Given the description of an element on the screen output the (x, y) to click on. 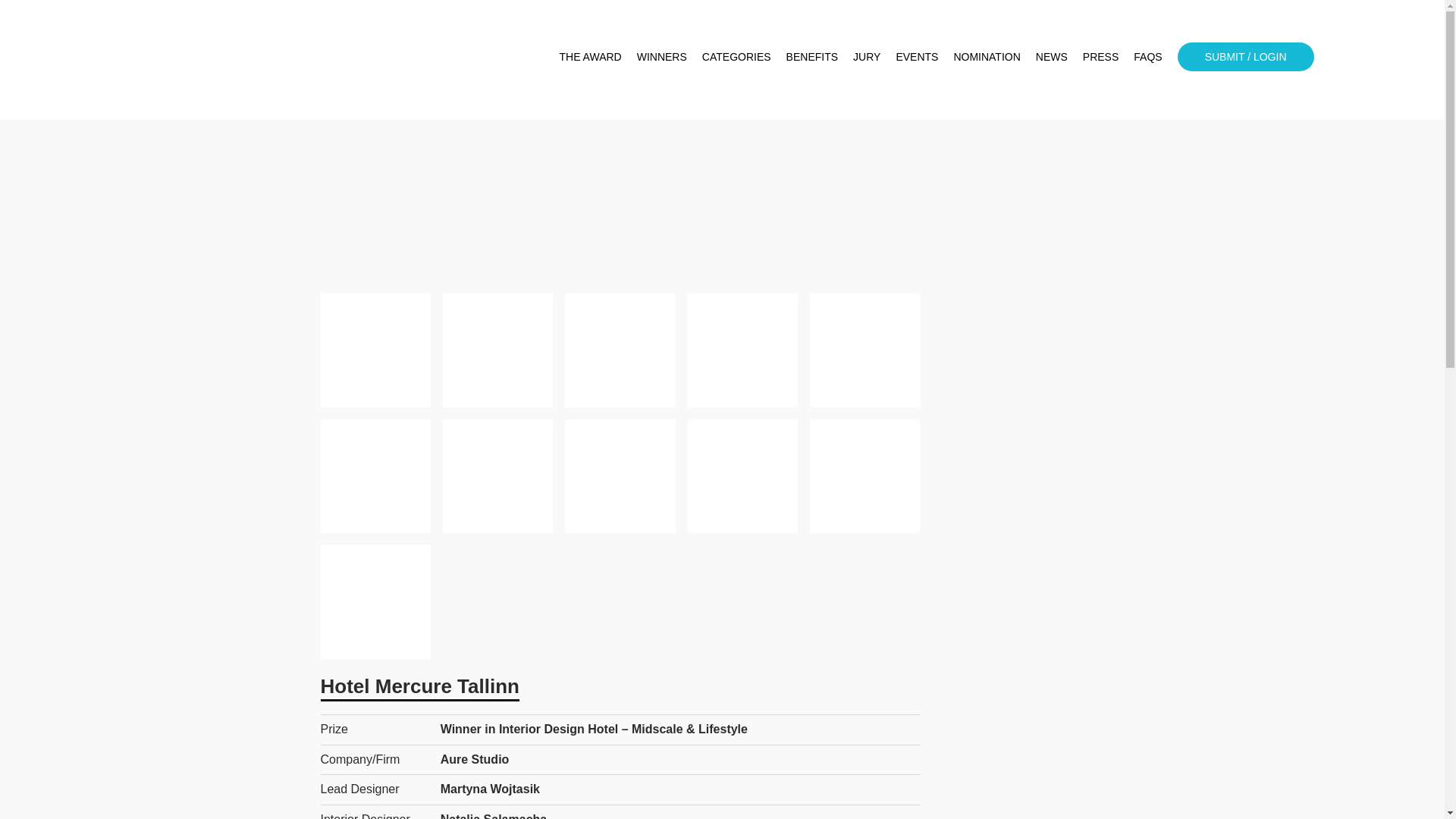
EVENTS (916, 56)
JURY (866, 56)
PRESS (1100, 56)
LIV Hospitality Design Awards (206, 60)
FAQS (1147, 56)
NEWS (1051, 56)
THE AWARD (590, 56)
CATEGORIES (736, 56)
BENEFITS (812, 56)
WINNERS (662, 56)
